Given the description of an element on the screen output the (x, y) to click on. 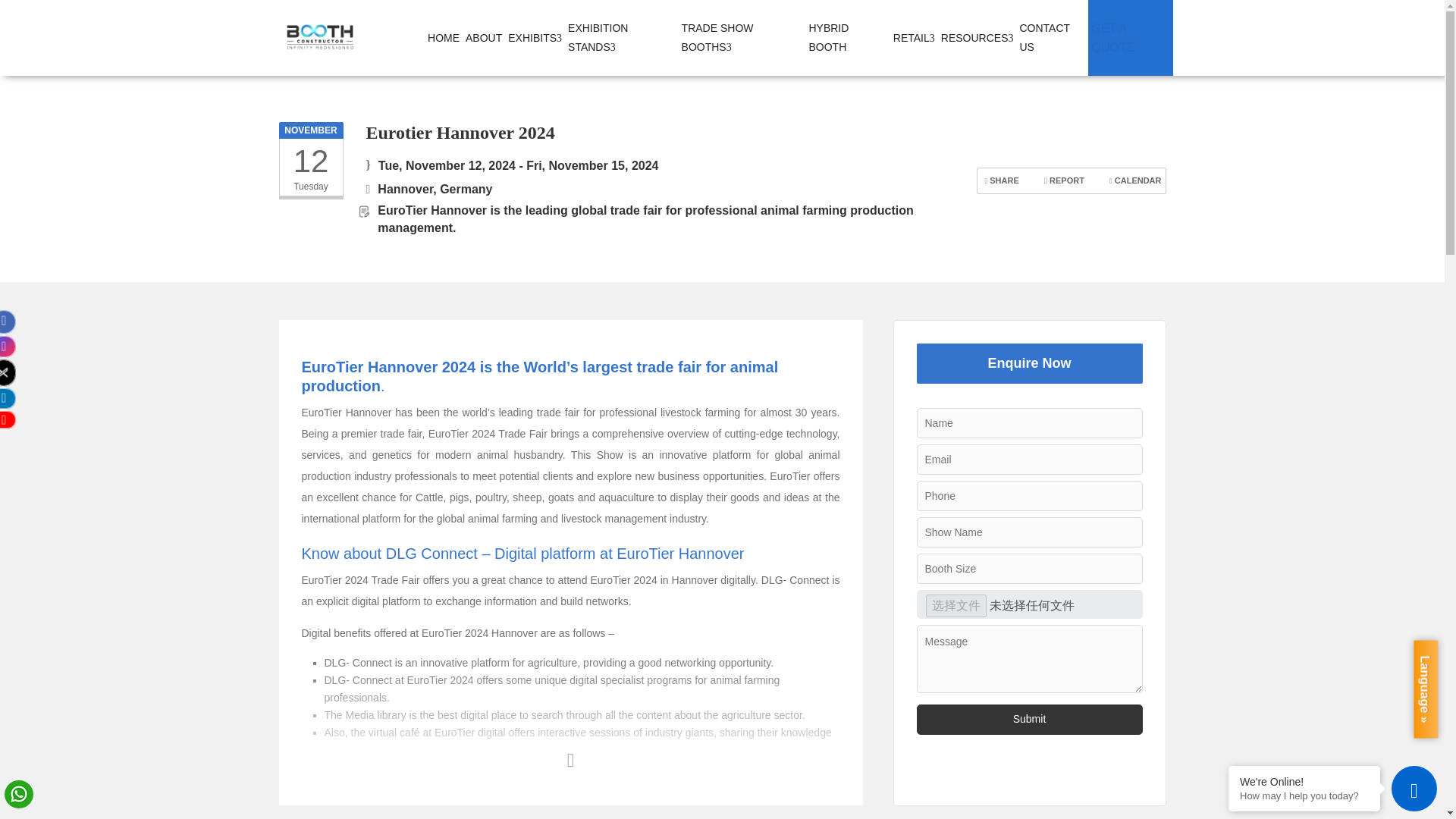
EXHIBITS (535, 37)
Exhibits (535, 37)
EXHIBITION STANDS (621, 38)
About (483, 37)
TRADE SHOW BOOTHS (742, 38)
HOME (444, 37)
Exhibition Stands (621, 38)
ABOUT (483, 37)
RETAIL (913, 37)
Submit (1028, 719)
Home (444, 37)
Trade Show Booths (742, 38)
HYBRID BOOTH (847, 38)
